Given the description of an element on the screen output the (x, y) to click on. 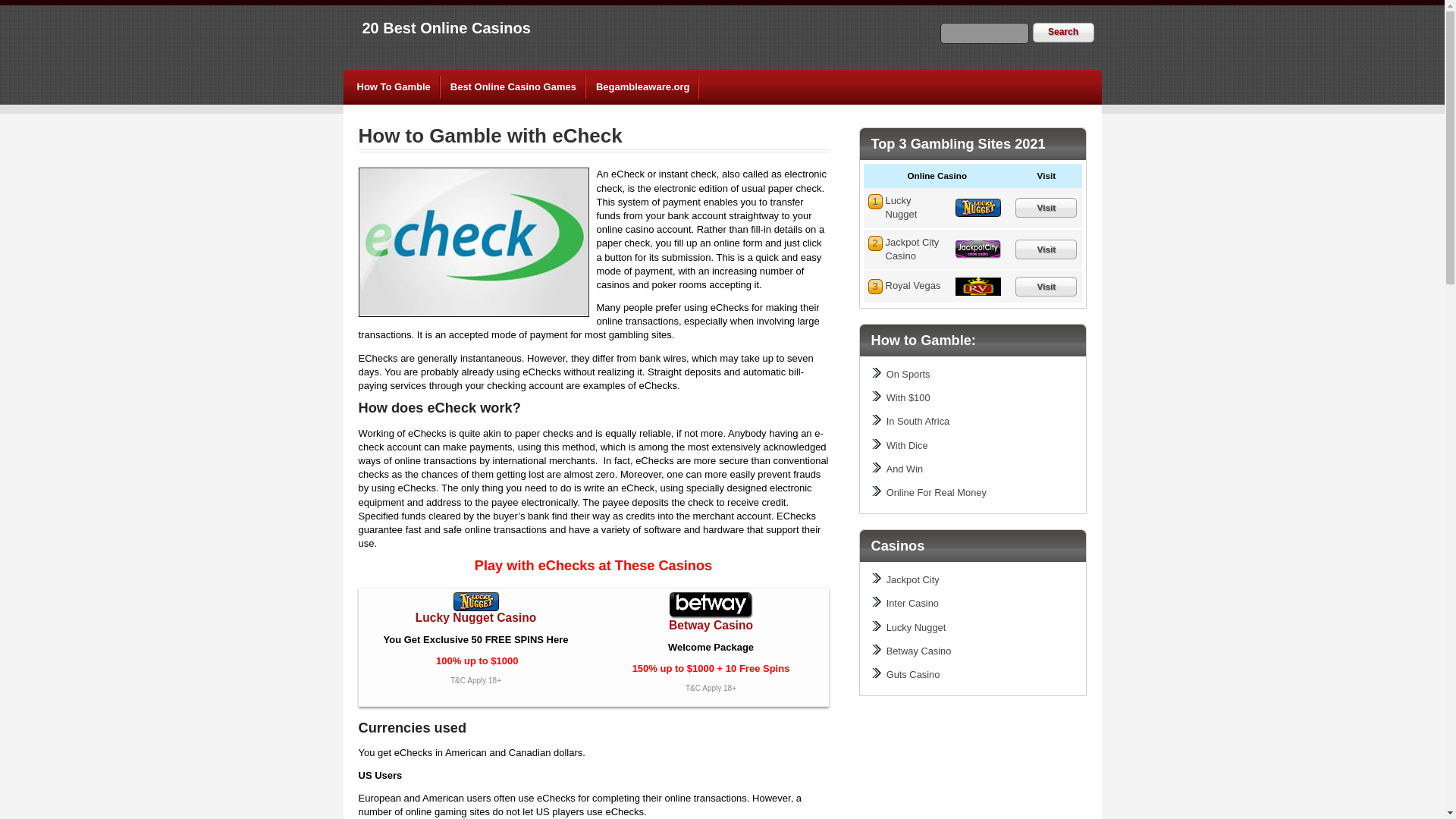
Visit Element type: text (1045, 207)
In South Africa Element type: text (918, 420)
2
Jackpot City Casino Element type: text (912, 248)
Visit Element type: text (1045, 286)
20 Best Online Casinos Element type: text (446, 27)
With $100 Element type: text (908, 397)
On Sports Element type: text (908, 373)
Jackpot City Element type: text (912, 579)
Begambleaware.org Element type: text (642, 86)
Visit Element type: text (1045, 249)
How To Gamble Element type: text (393, 86)
Search Element type: text (1063, 32)
Betway Casino Element type: text (918, 650)
3
Royal Vegas Element type: text (913, 285)
Betway Casino Element type: text (710, 624)
1
Lucky Nugget Element type: text (901, 206)
With Dice Element type: text (907, 445)
Inter Casino Element type: text (912, 602)
And Win Element type: text (904, 468)
Guts Casino Element type: text (913, 674)
Best Online Casino Games Element type: text (513, 86)
Lucky Nugget Casino Element type: text (475, 617)
Lucky Nugget Element type: text (916, 627)
Online For Real Money Element type: text (936, 492)
